Given the description of an element on the screen output the (x, y) to click on. 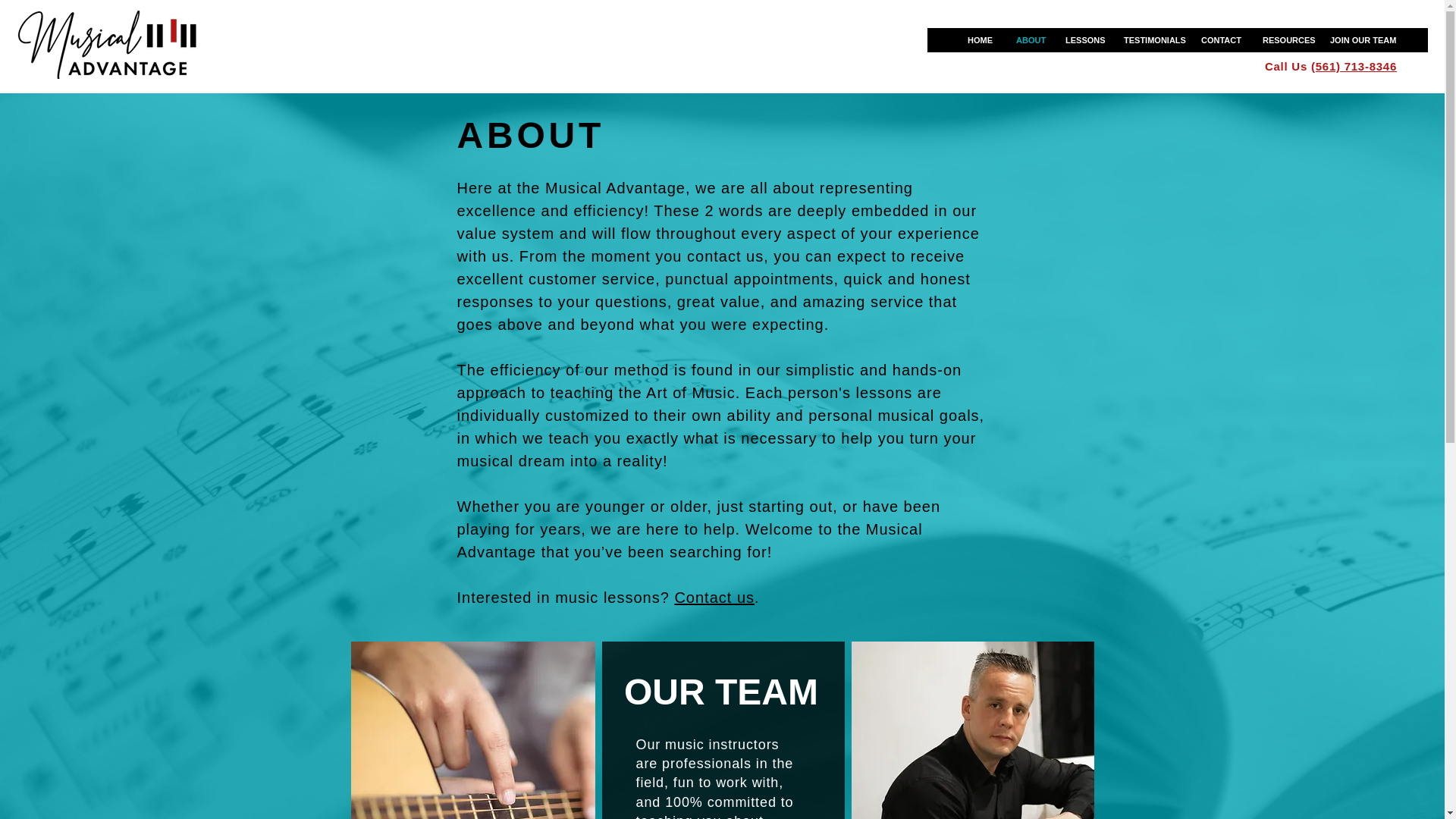
ABOUT (1028, 39)
HOME (979, 39)
RESOURCES (1283, 39)
Contact us (714, 597)
TESTIMONIALS (1150, 39)
JOIN OUR TEAM (1358, 39)
LESSONS (1082, 39)
CONTACT (1219, 39)
